Given the description of an element on the screen output the (x, y) to click on. 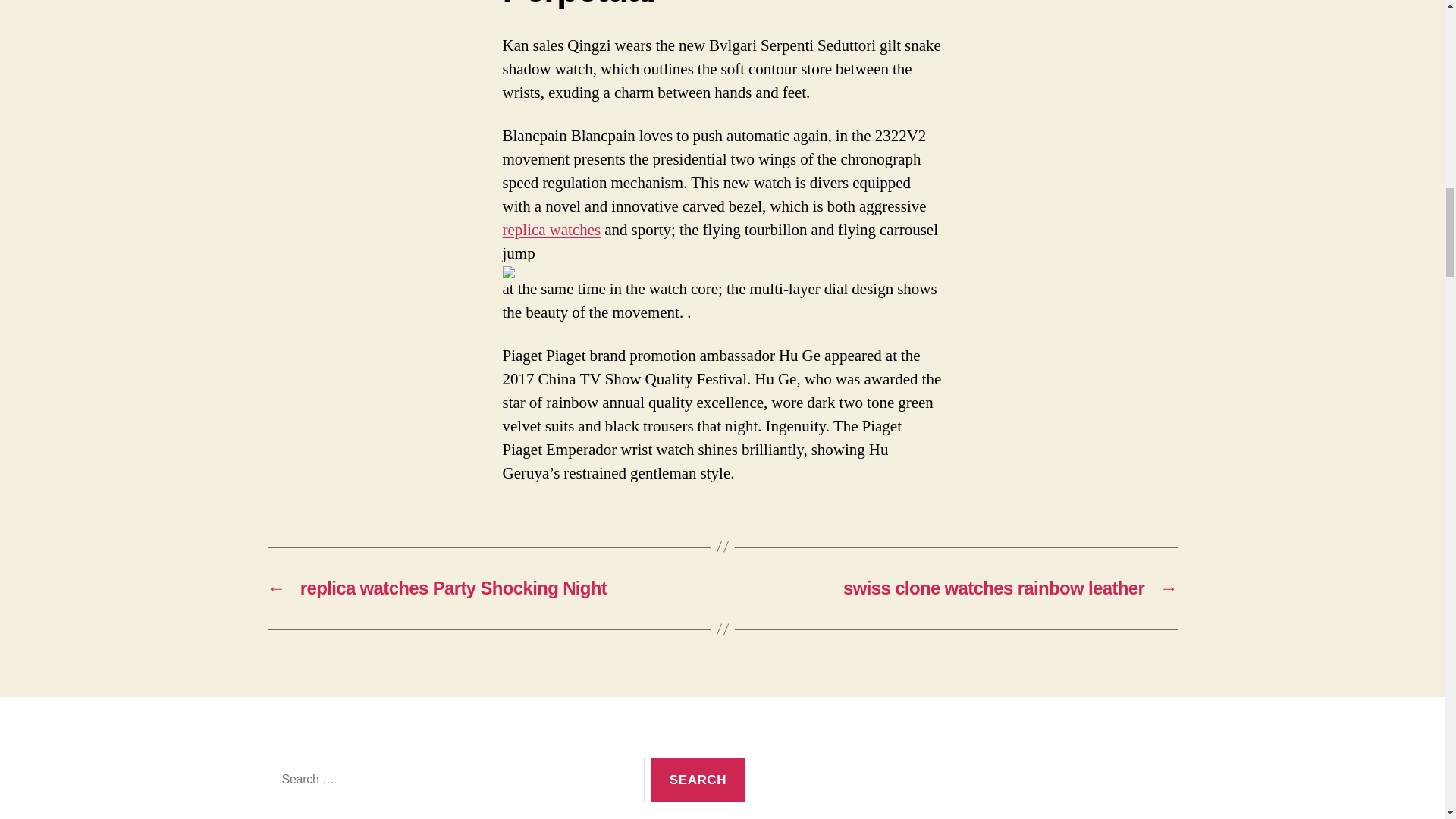
Search (697, 779)
Search (697, 779)
replica watches (550, 230)
Search (697, 779)
